Given the description of an element on the screen output the (x, y) to click on. 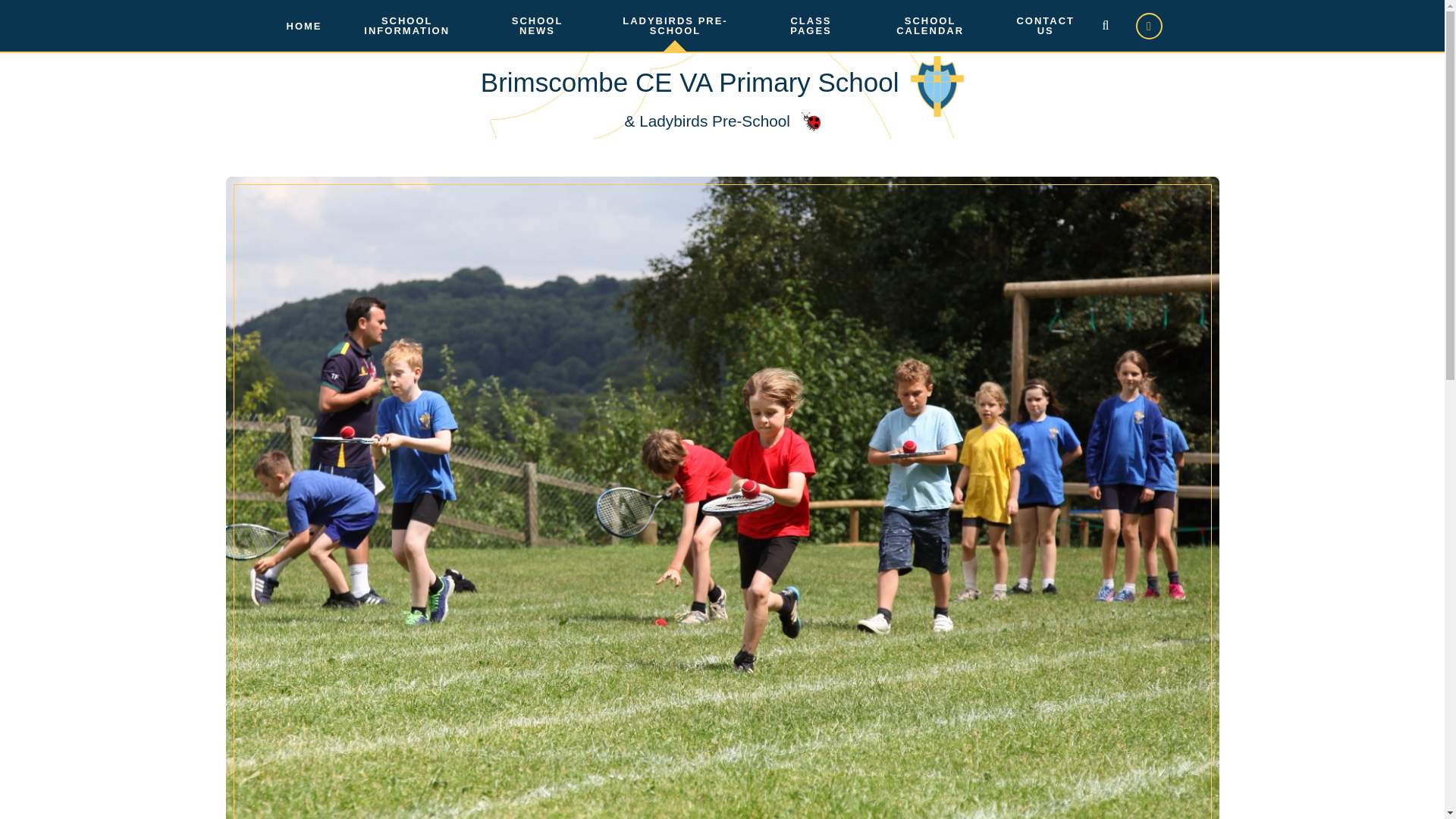
Search (1105, 25)
Secure (1148, 25)
SCHOOL INFORMATION (406, 25)
HOME (304, 25)
